Given the description of an element on the screen output the (x, y) to click on. 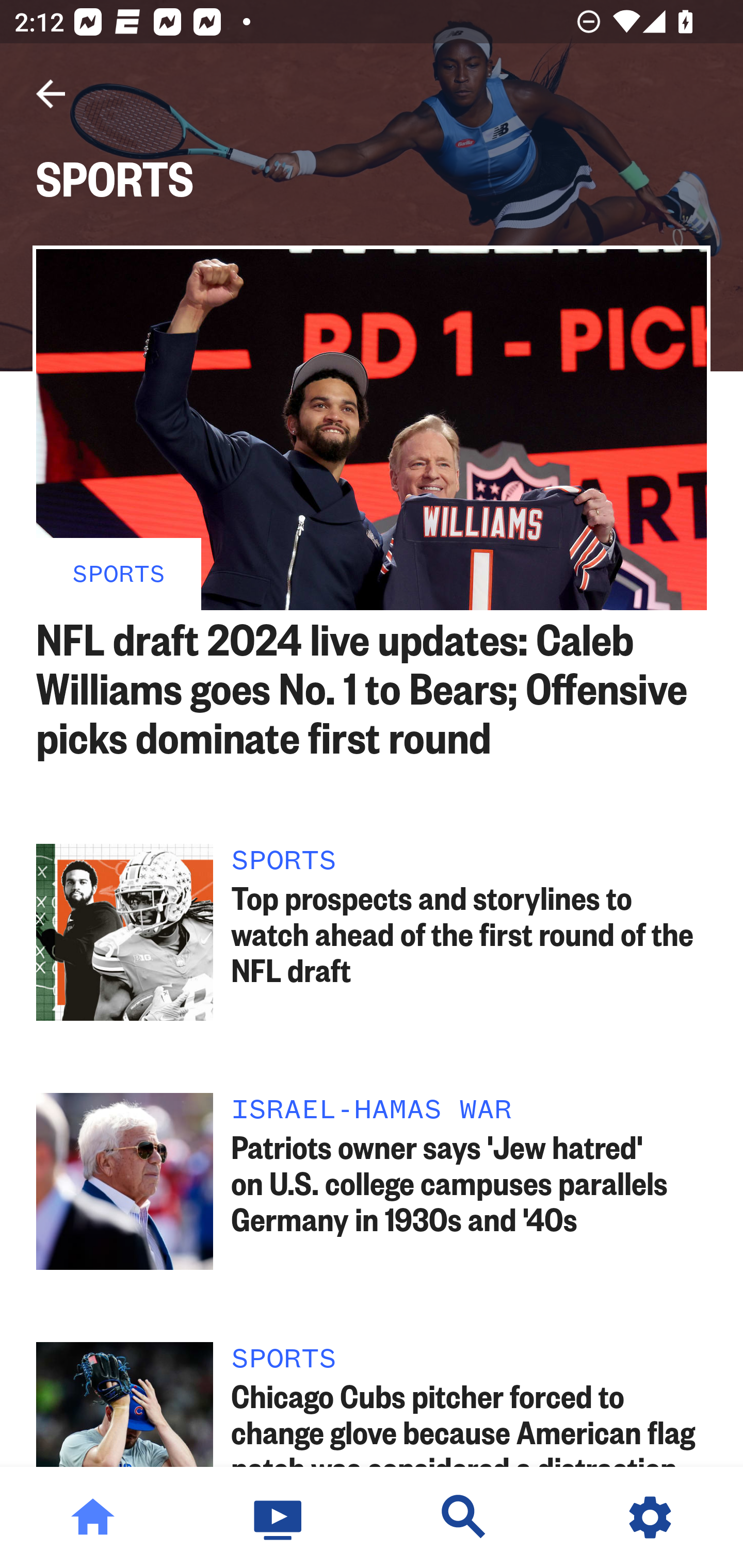
Navigate up (50, 93)
Watch (278, 1517)
Discover (464, 1517)
Settings (650, 1517)
